Given the description of an element on the screen output the (x, y) to click on. 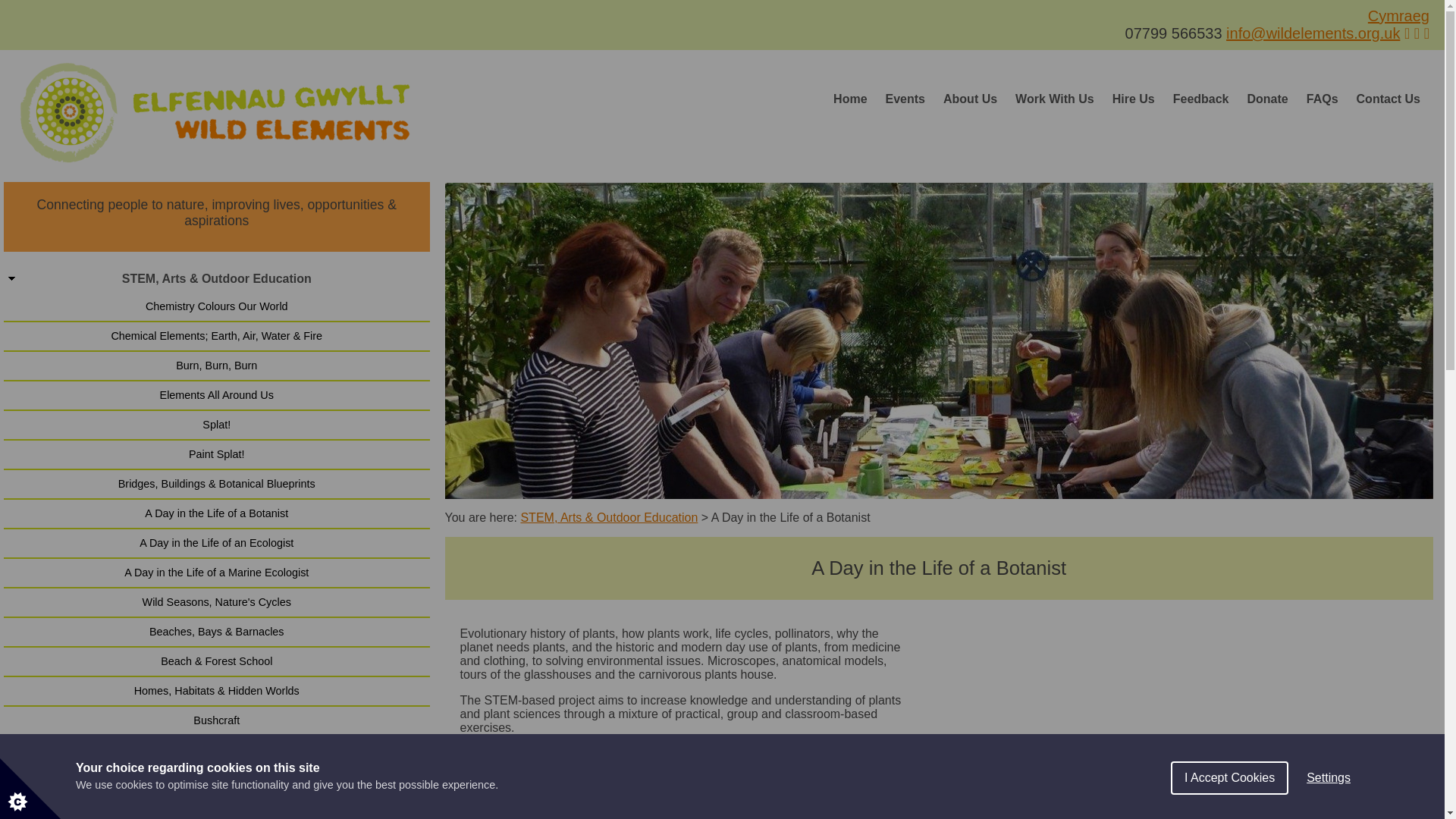
Wild Seasons, Nature's Cycles (216, 602)
FAQs (1322, 99)
Splat! (216, 424)
A Day in the Life of an Ecologist (216, 543)
Cymraeg (1398, 15)
Events (905, 99)
Hire Us (1133, 99)
About Us (970, 99)
Donate (1268, 99)
Paint Splat! (216, 454)
Chemistry Colours Our World (216, 306)
Elements All Around Us (216, 395)
A Day in the Life of a Marine Ecologist (216, 572)
Home (850, 99)
A Day in the Life of a Botanist (216, 513)
